Given the description of an element on the screen output the (x, y) to click on. 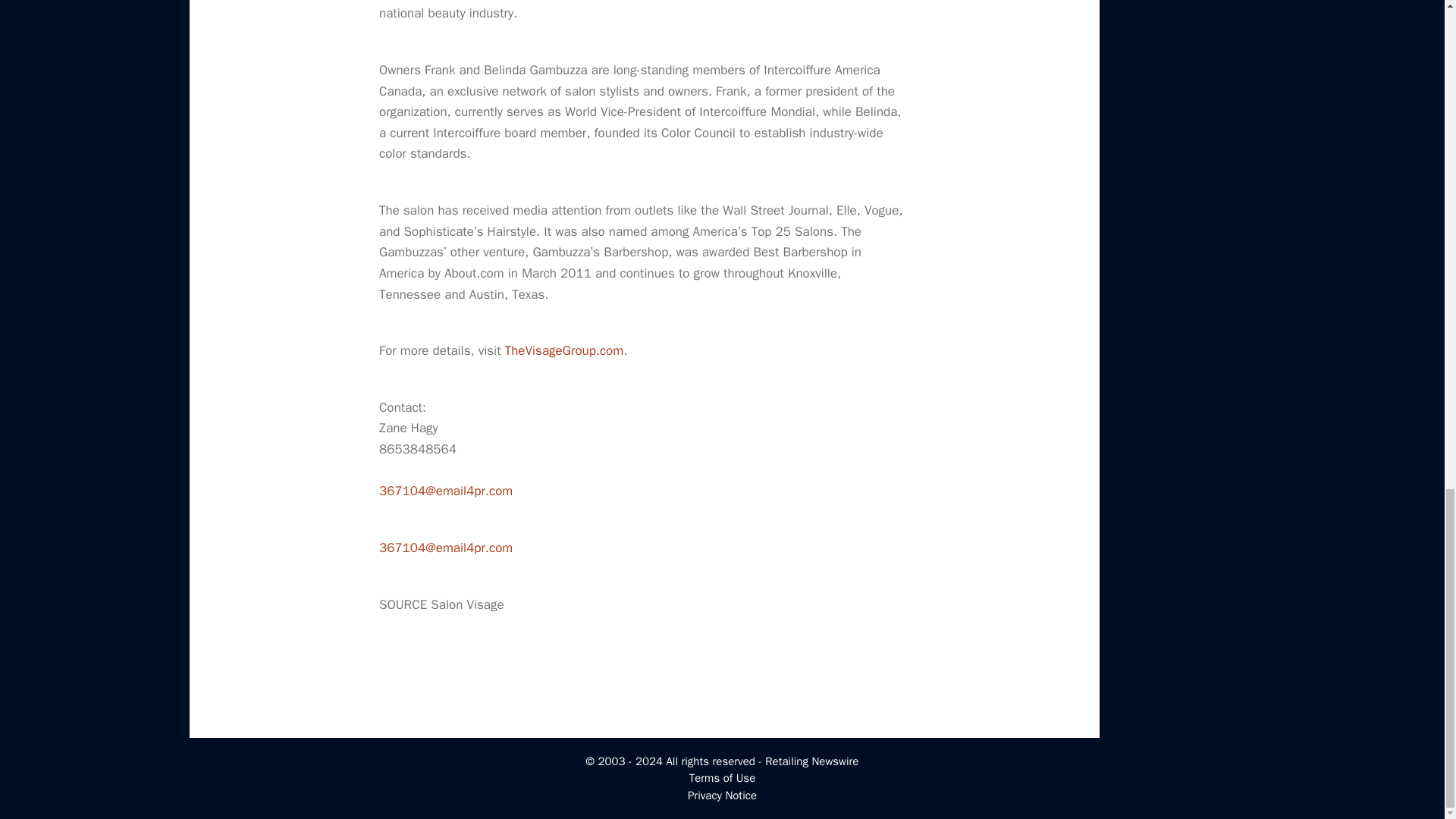
Privacy Notice (722, 795)
TheVisageGroup.com (564, 350)
Terms of Use (721, 777)
